Given the description of an element on the screen output the (x, y) to click on. 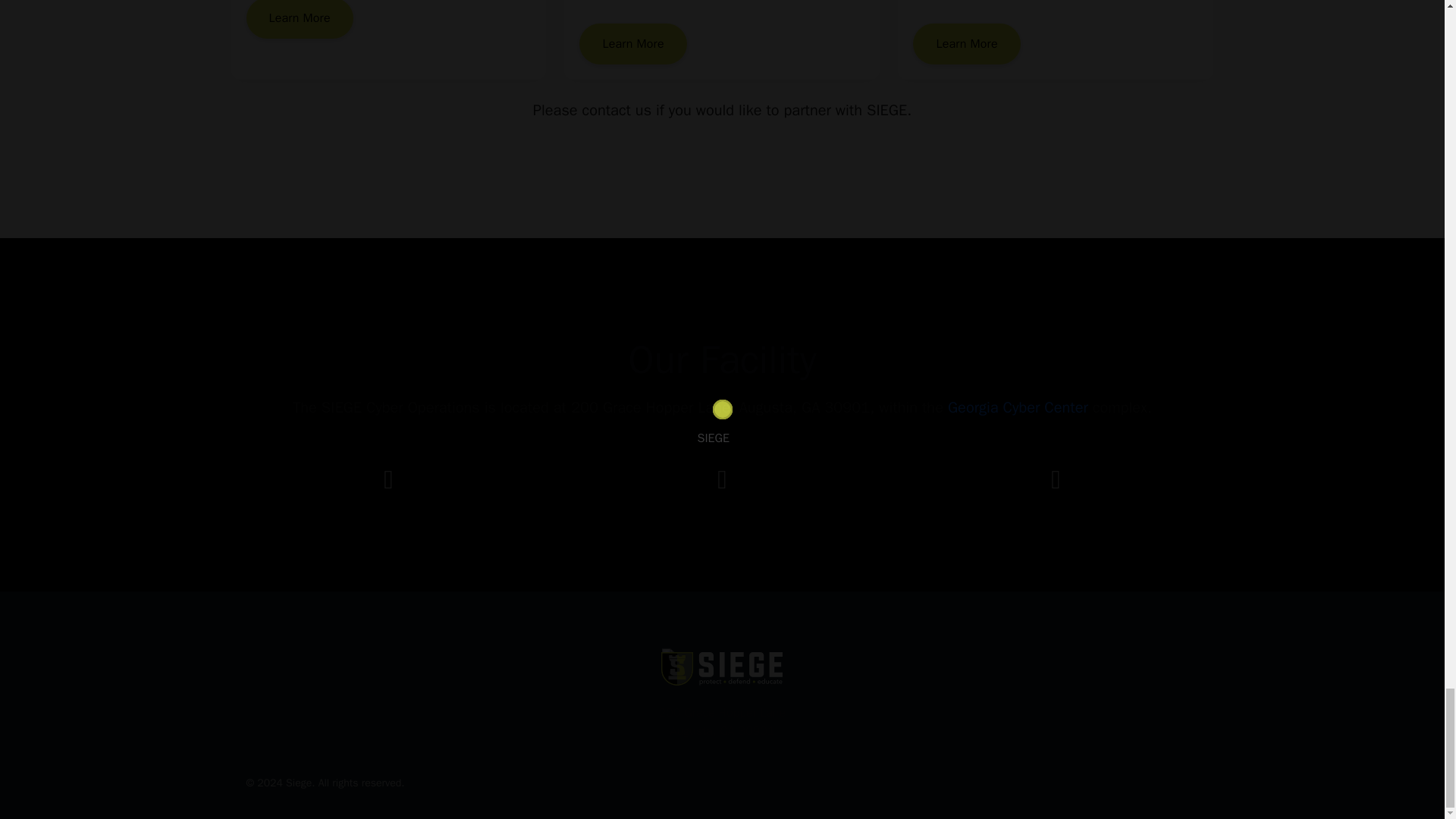
Learn More (632, 43)
Learn More (966, 43)
Georgia Cyber Center (1017, 407)
Siege (298, 782)
Learn More (299, 19)
